Given the description of an element on the screen output the (x, y) to click on. 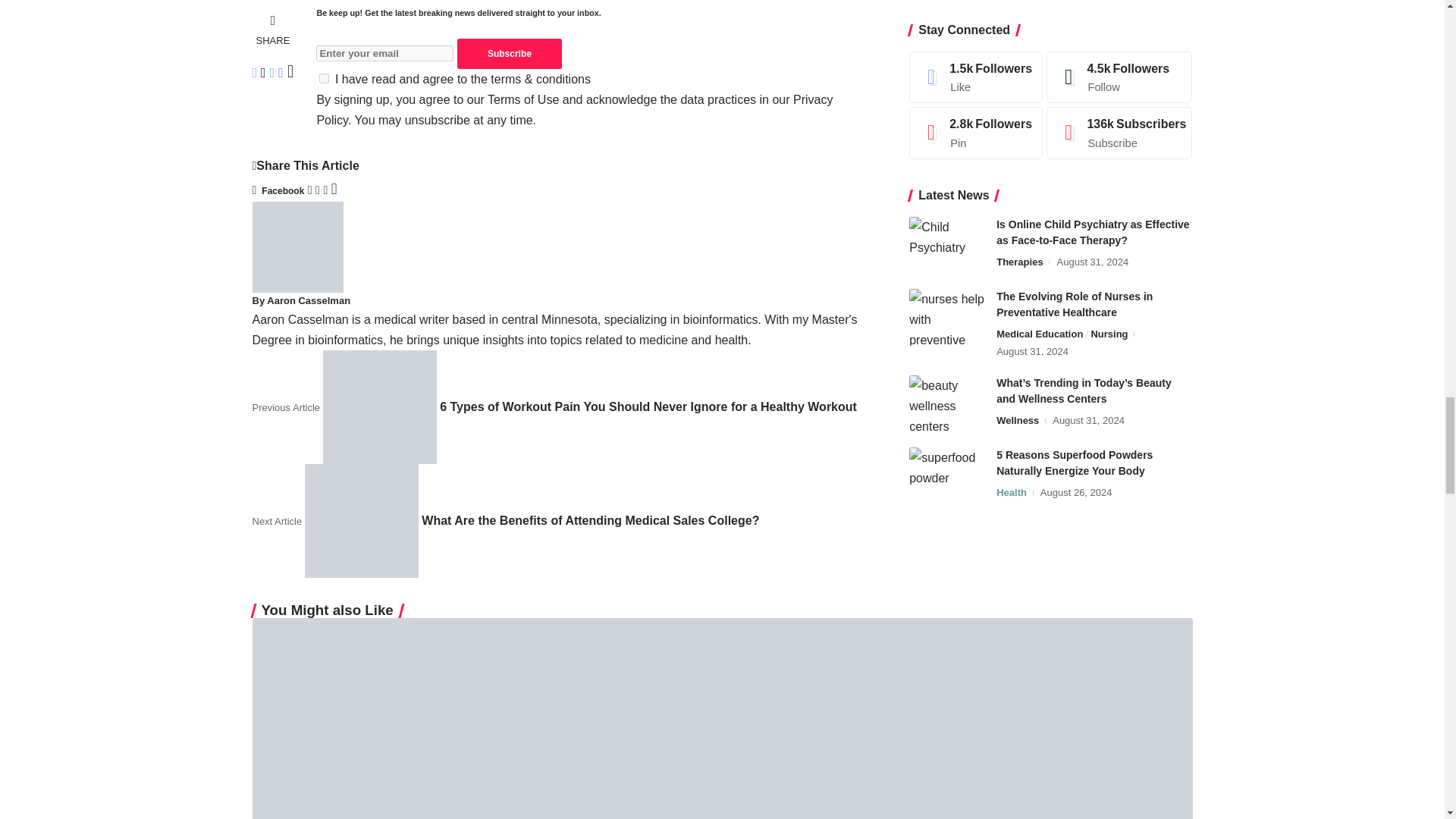
1 (323, 78)
Subscribe (509, 53)
